Given the description of an element on the screen output the (x, y) to click on. 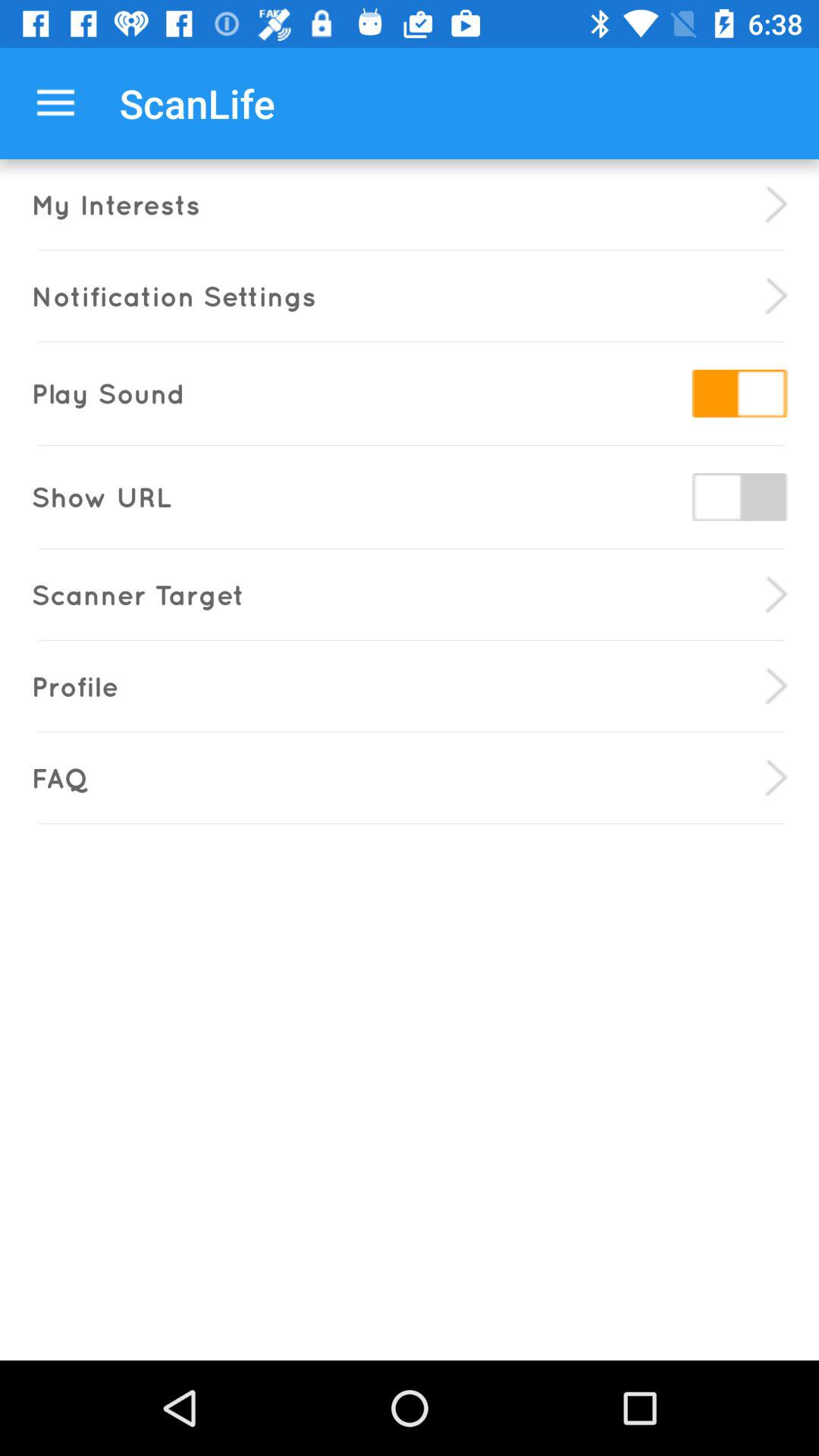
show url on (739, 496)
